Given the description of an element on the screen output the (x, y) to click on. 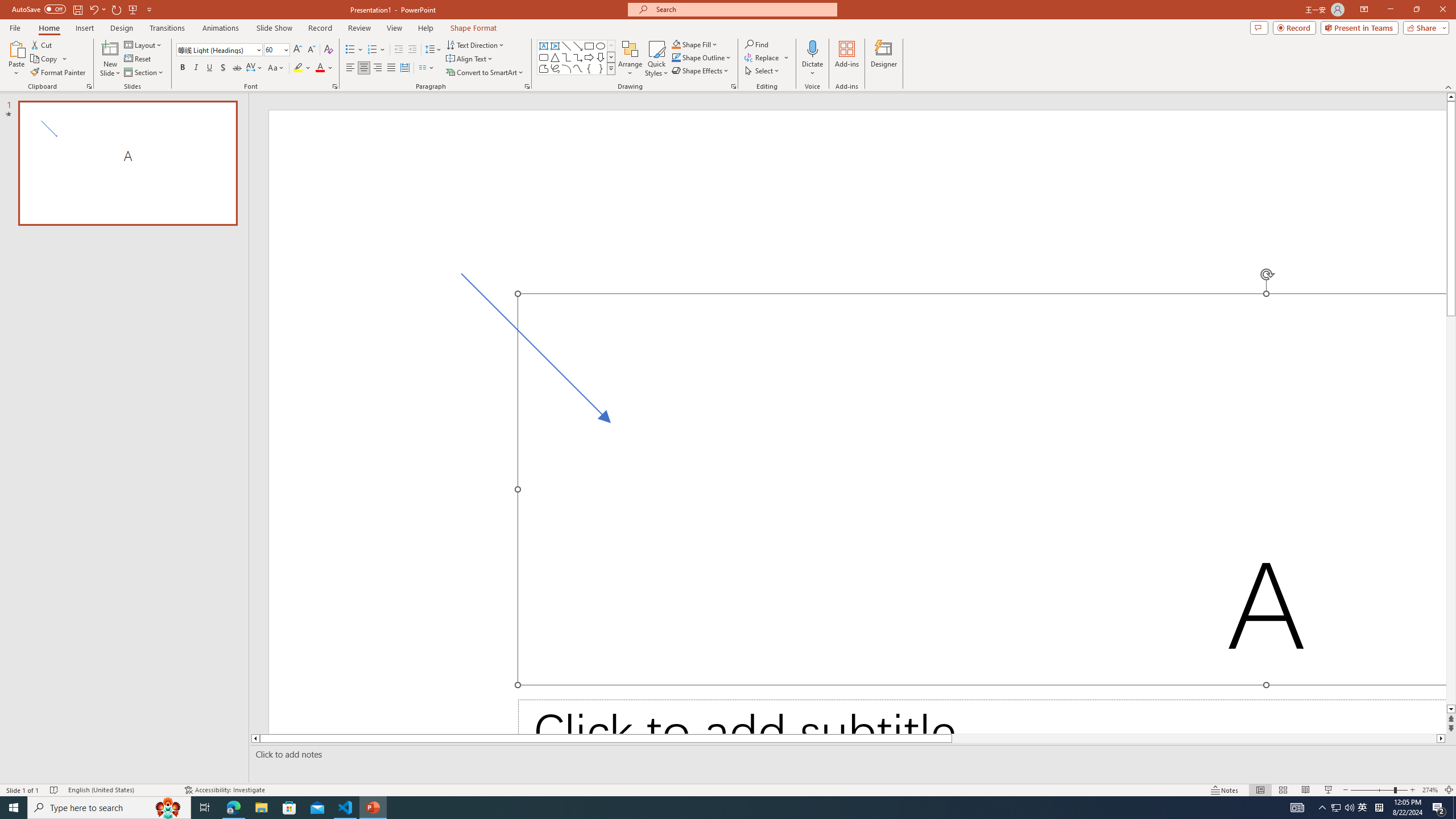
Shape Outline Blue, Accent 1 (675, 56)
